Given the description of an element on the screen output the (x, y) to click on. 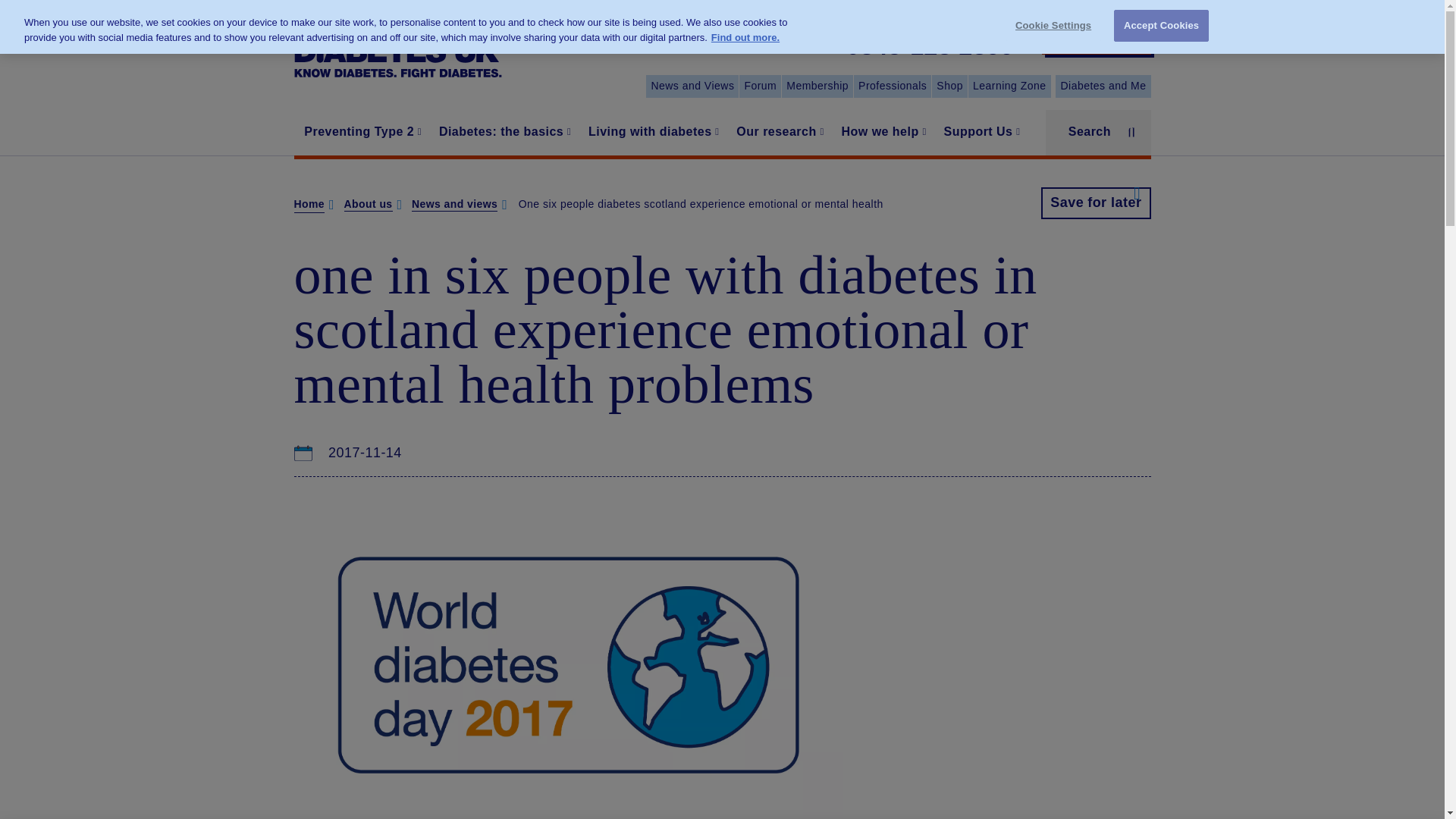
Home (398, 47)
0345123 2399 (929, 46)
Diabetes: the basics (503, 132)
Forum (759, 86)
Shop (949, 86)
Diabetes and Me (1102, 86)
Donate (1096, 37)
Learning Zone (1009, 86)
Professionals (892, 86)
News and Views (692, 86)
Preventing Type 2 (361, 132)
Membership (817, 86)
